Given the description of an element on the screen output the (x, y) to click on. 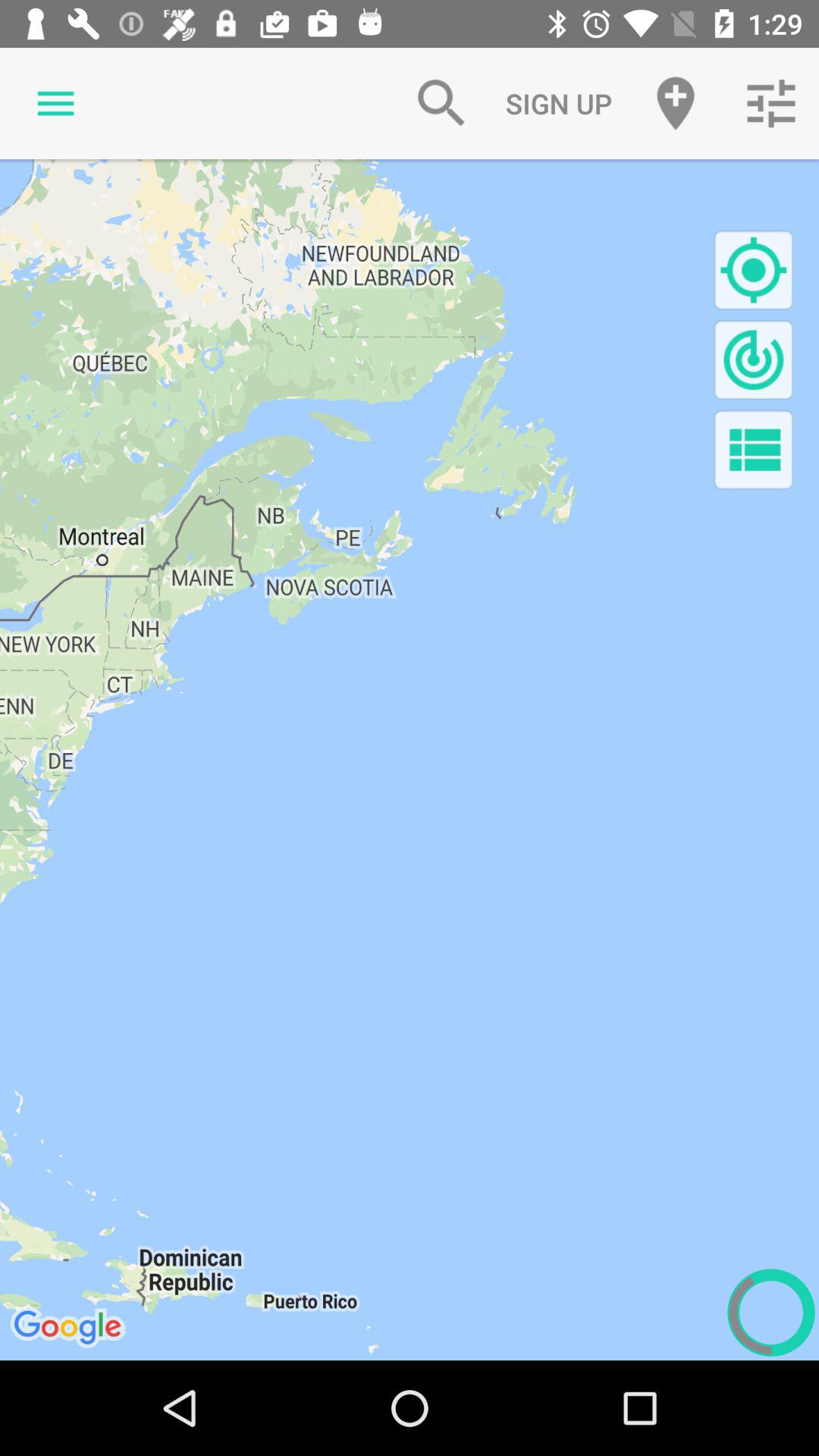
launch item to the left of the sign up icon (441, 103)
